Given the description of an element on the screen output the (x, y) to click on. 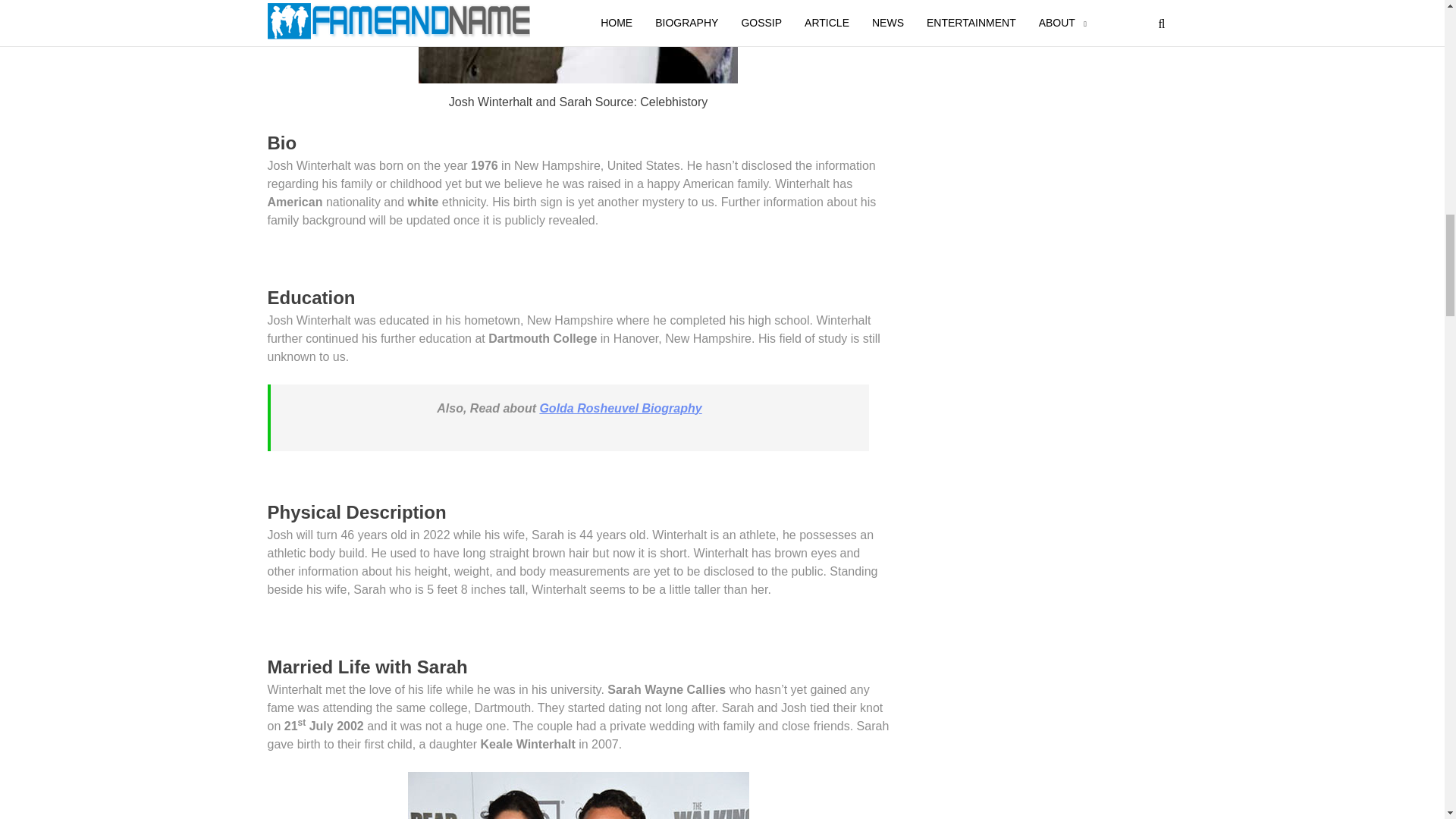
Golda Rosheuvel Biography (619, 408)
